Given the description of an element on the screen output the (x, y) to click on. 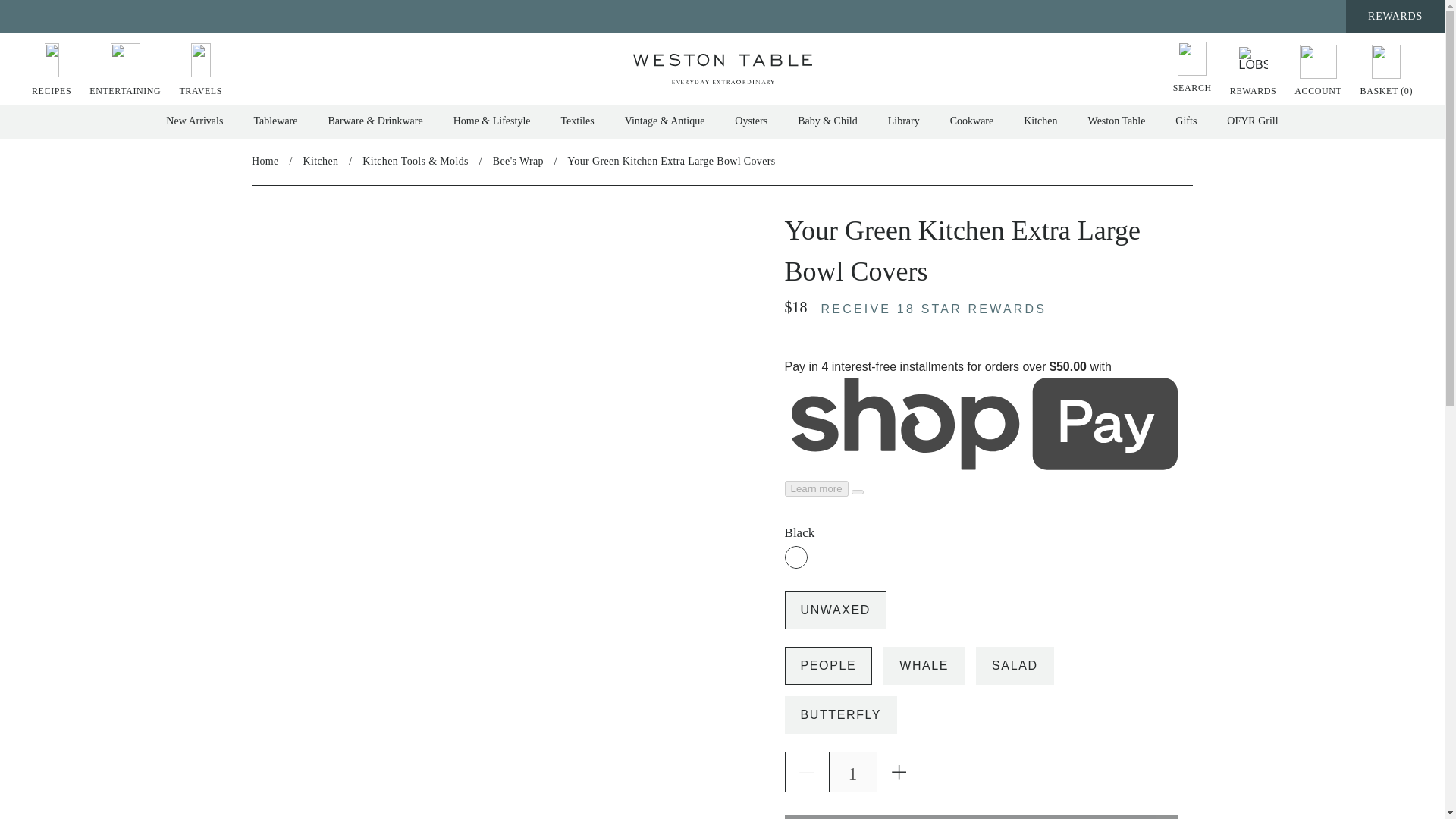
TRAVELS (200, 69)
RECIPES (51, 69)
Tableware (275, 121)
Rewards (1253, 70)
ACCOUNT (1318, 70)
REWARDS (1253, 70)
1 (852, 771)
Account (1318, 70)
New Arrivals (193, 121)
